Given the description of an element on the screen output the (x, y) to click on. 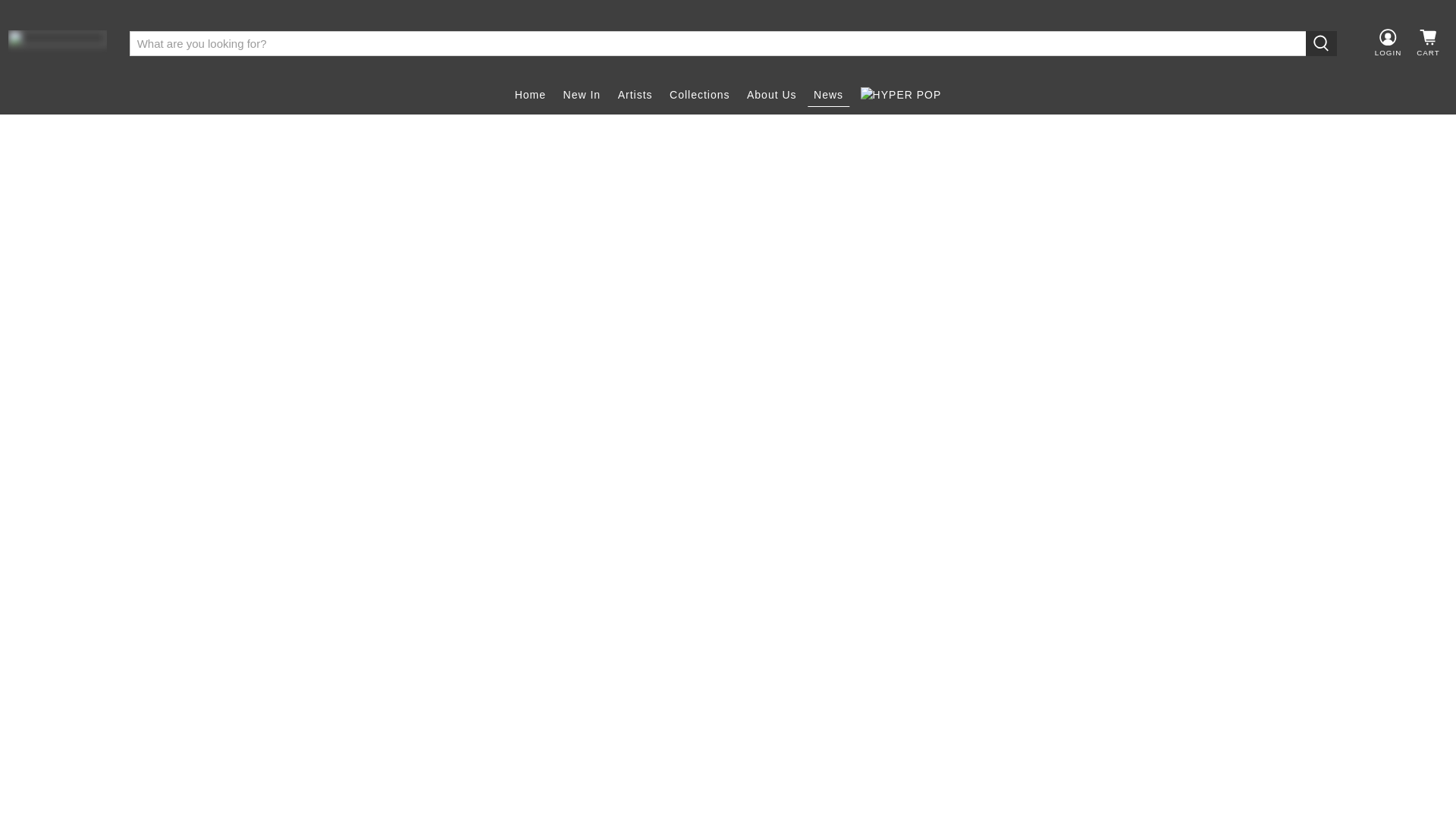
Wyecliffe Original Art (57, 43)
